Given the description of an element on the screen output the (x, y) to click on. 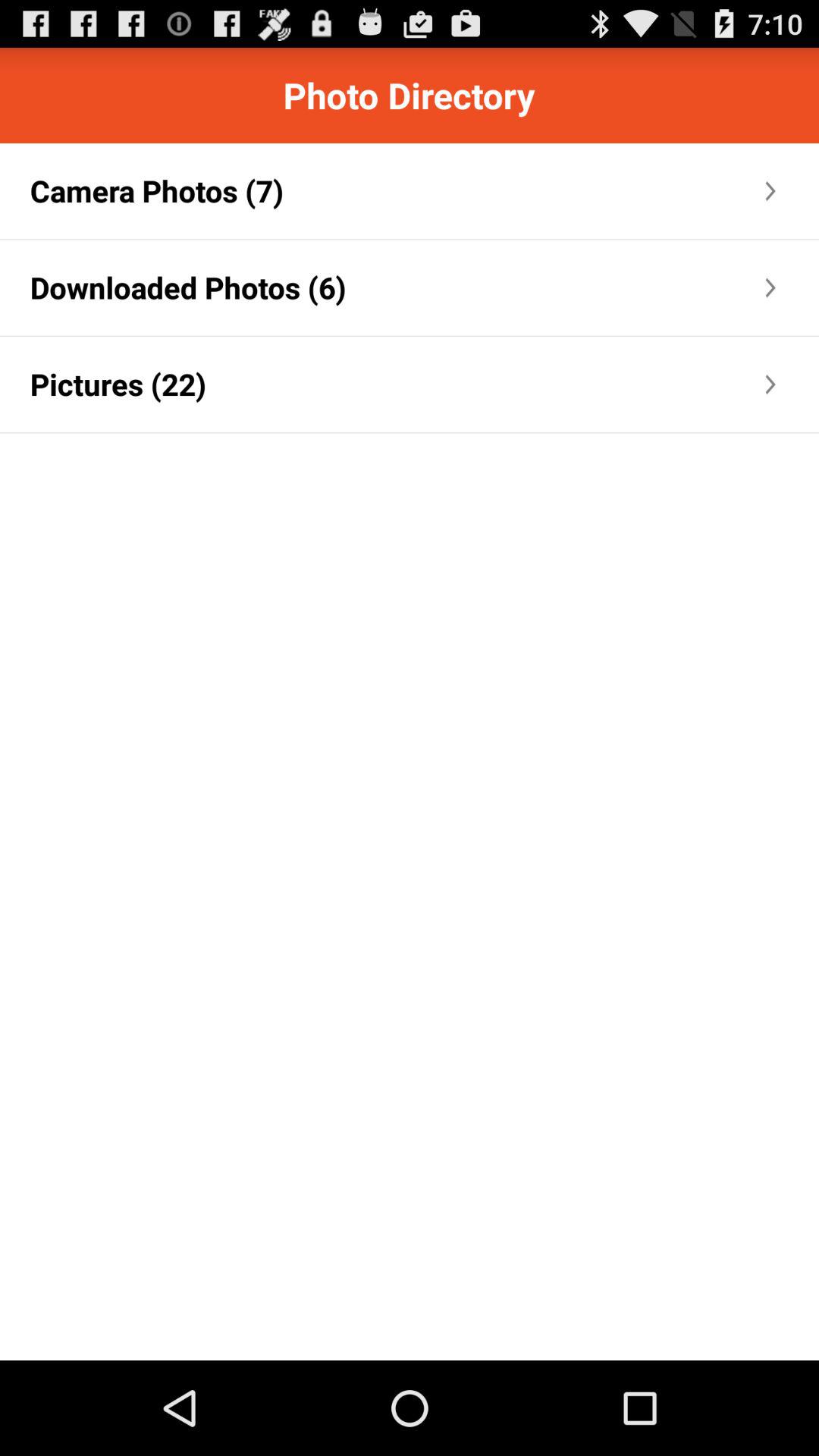
click pictures (22) app (118, 384)
